Given the description of an element on the screen output the (x, y) to click on. 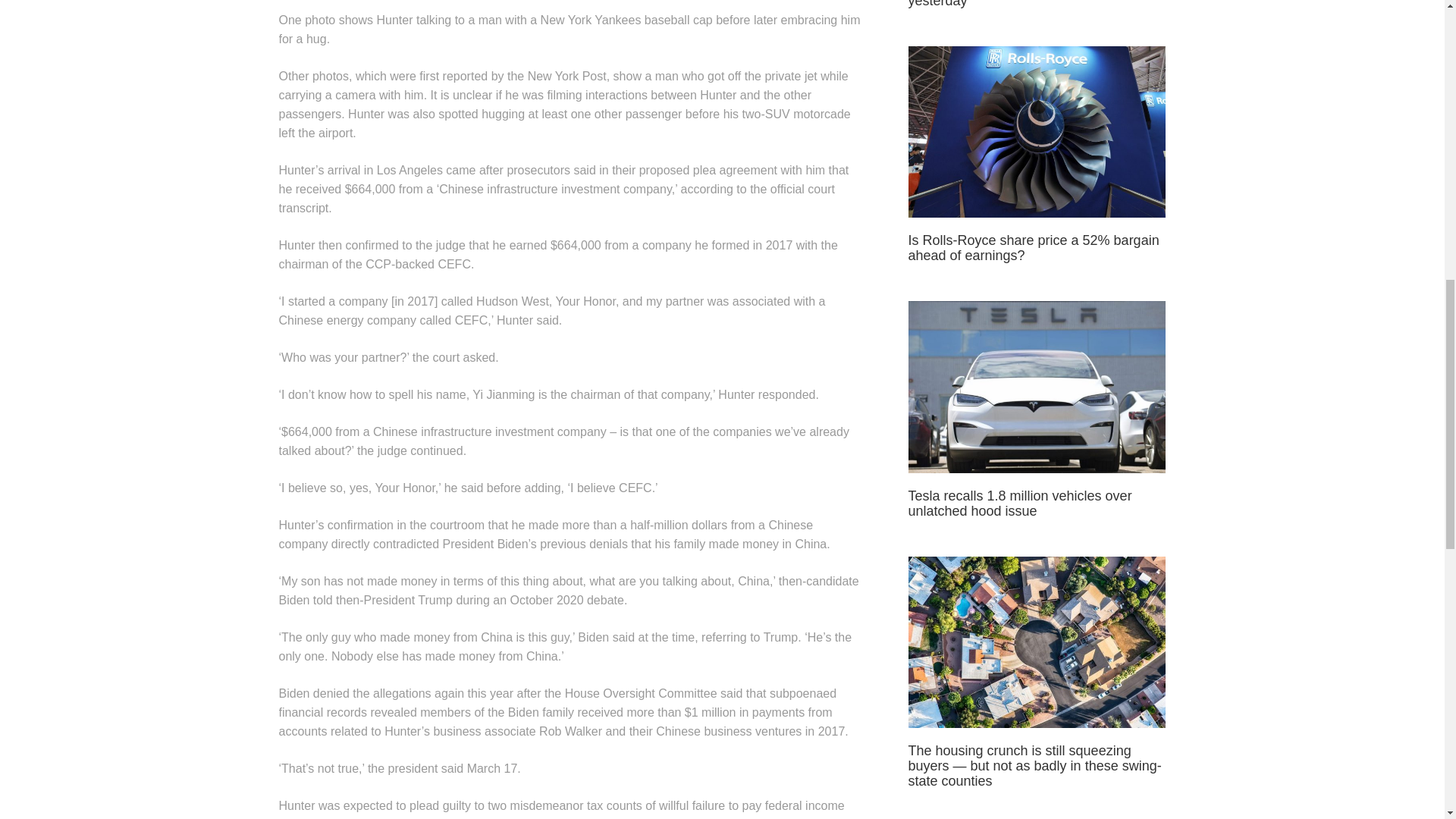
Tesla recalls 1.8 million vehicles over unlatched hood issue (1020, 503)
